Given the description of an element on the screen output the (x, y) to click on. 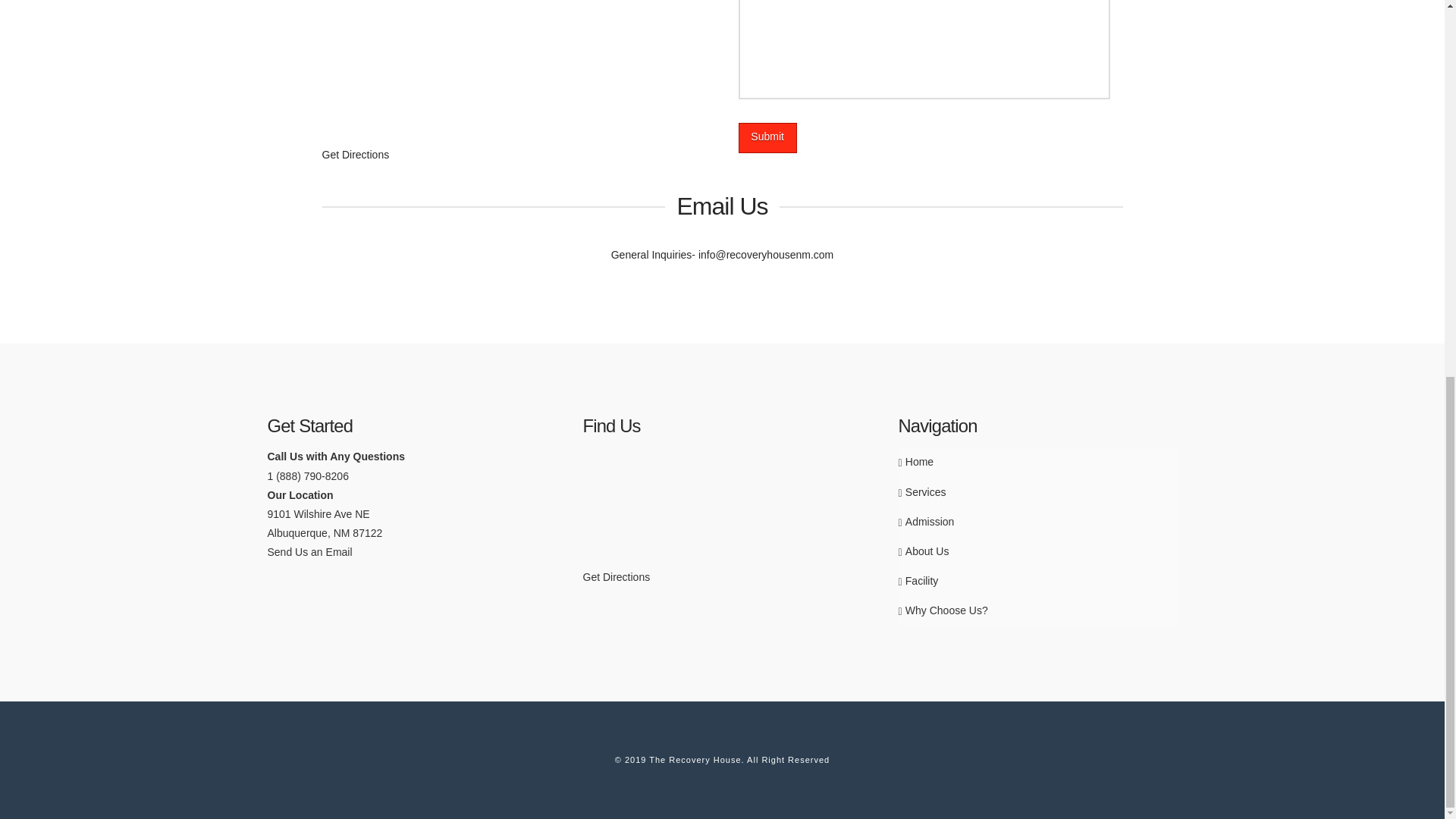
Submit (767, 137)
